Given the description of an element on the screen output the (x, y) to click on. 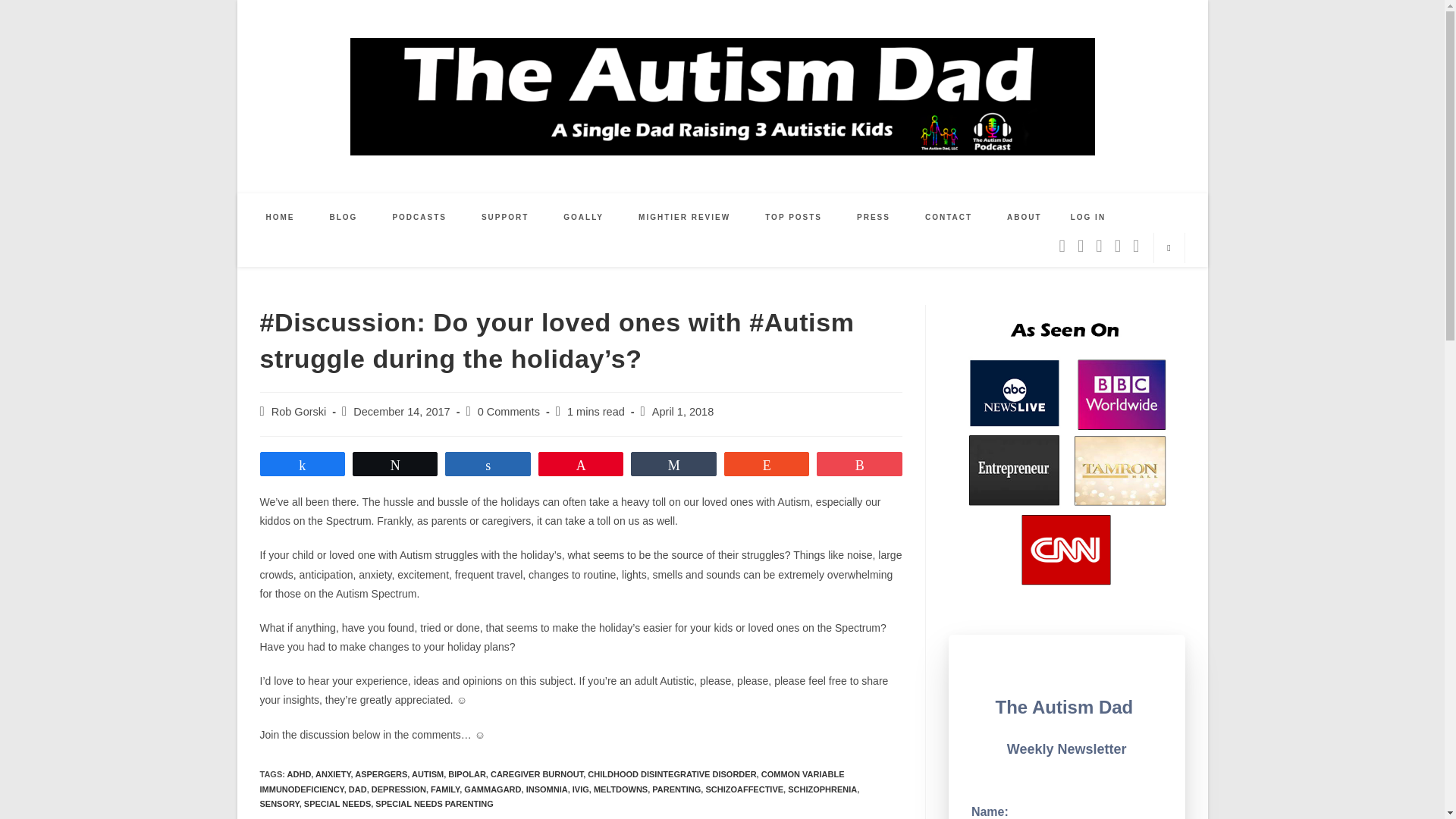
0 Comments (508, 411)
GOALLY (583, 217)
CONTACT (948, 217)
SUPPORT (505, 217)
BLOG (344, 217)
LOG IN (1087, 217)
PRESS (873, 217)
ABOUT (1024, 217)
Rob Gorski (298, 411)
